Given the description of an element on the screen output the (x, y) to click on. 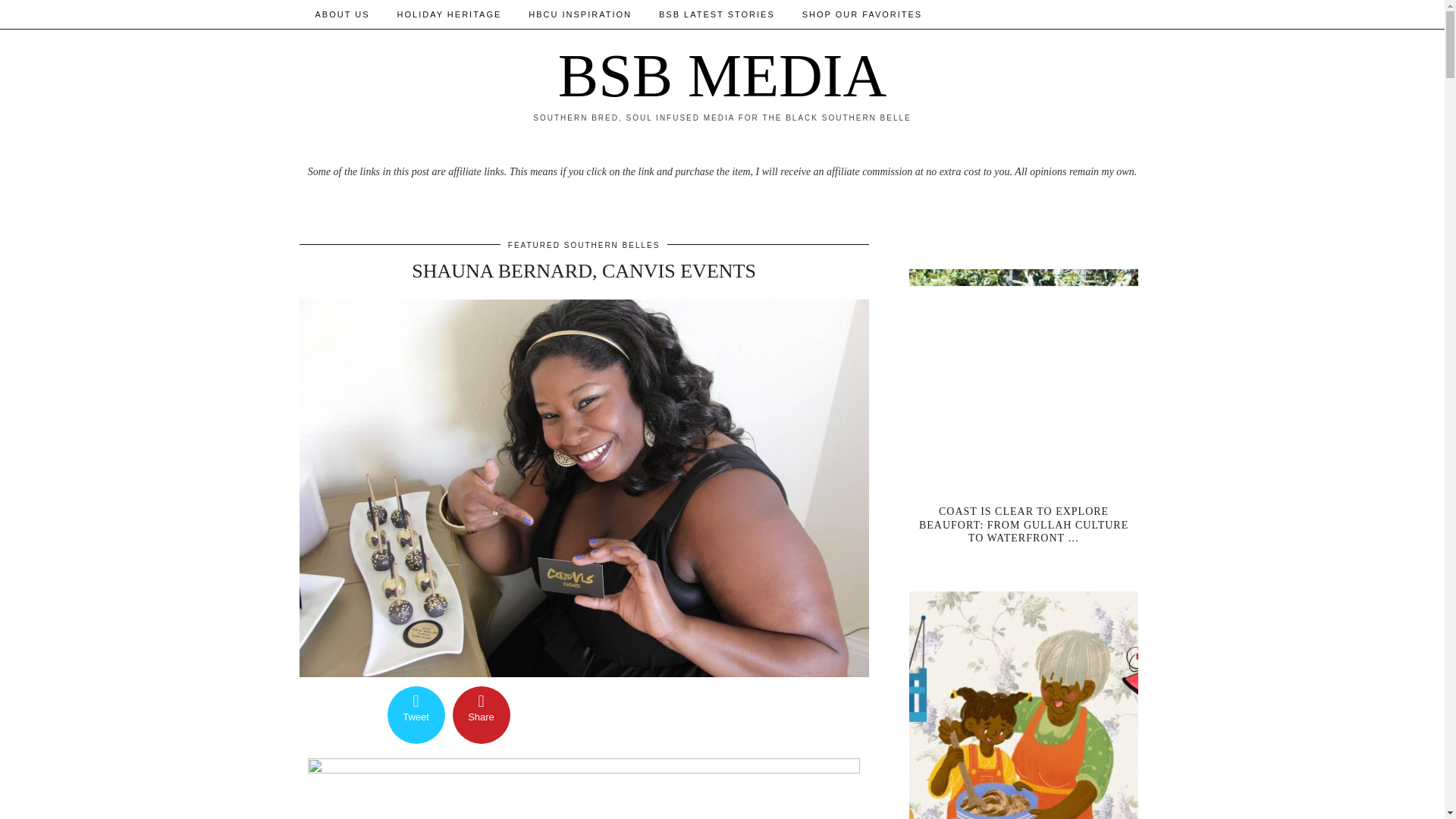
BSB MEDIA (721, 75)
HBCU INSPIRATION (580, 14)
Share on Twitter (415, 714)
BSB MEDIA (721, 75)
HOLIDAY HERITAGE (449, 14)
Share on Pinterest (480, 714)
SHOP OUR FAVORITES (862, 14)
ABOUT US (342, 14)
BSB LATEST STORIES (717, 14)
